Given the description of an element on the screen output the (x, y) to click on. 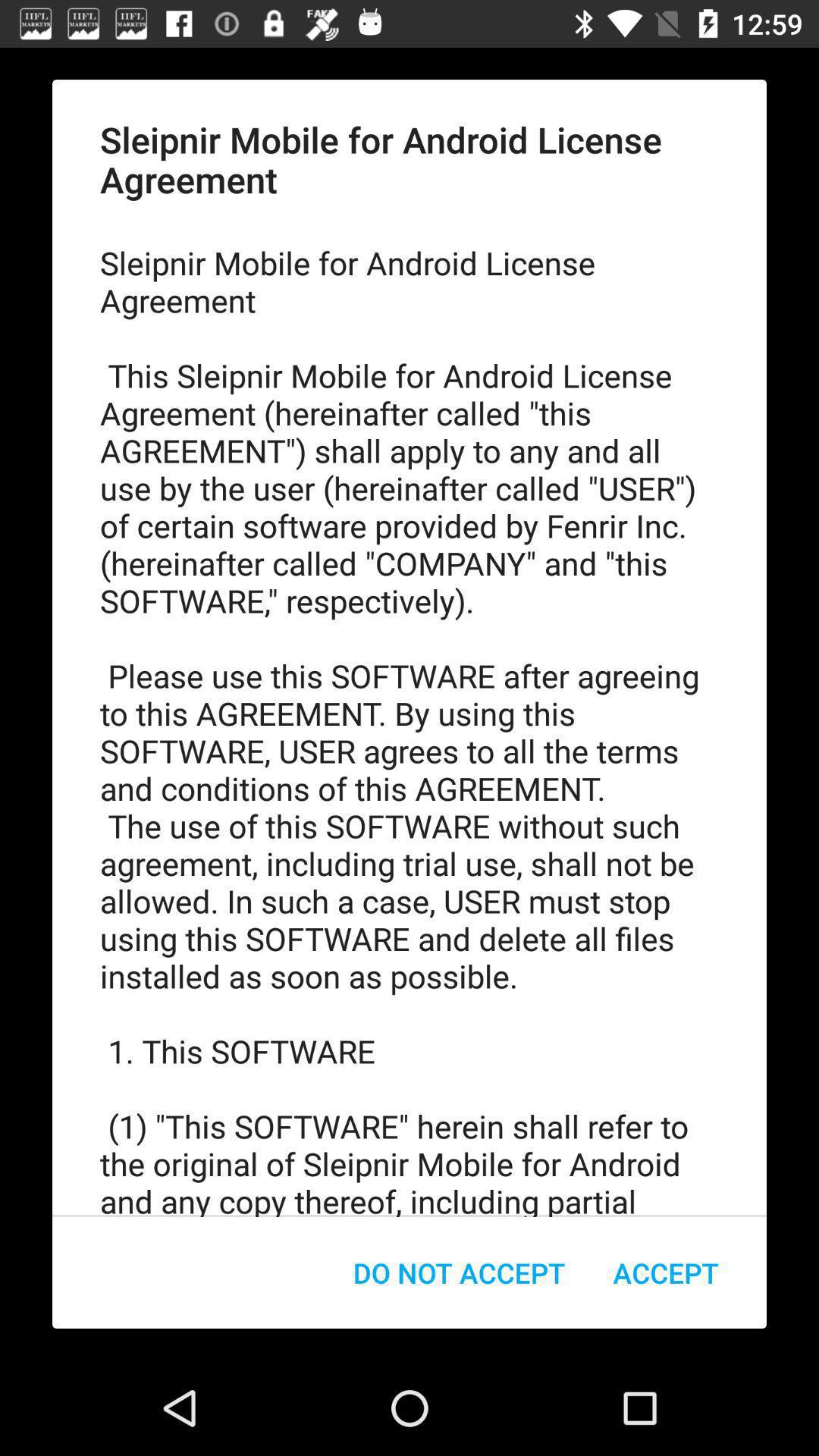
turn on icon at the bottom (459, 1272)
